Given the description of an element on the screen output the (x, y) to click on. 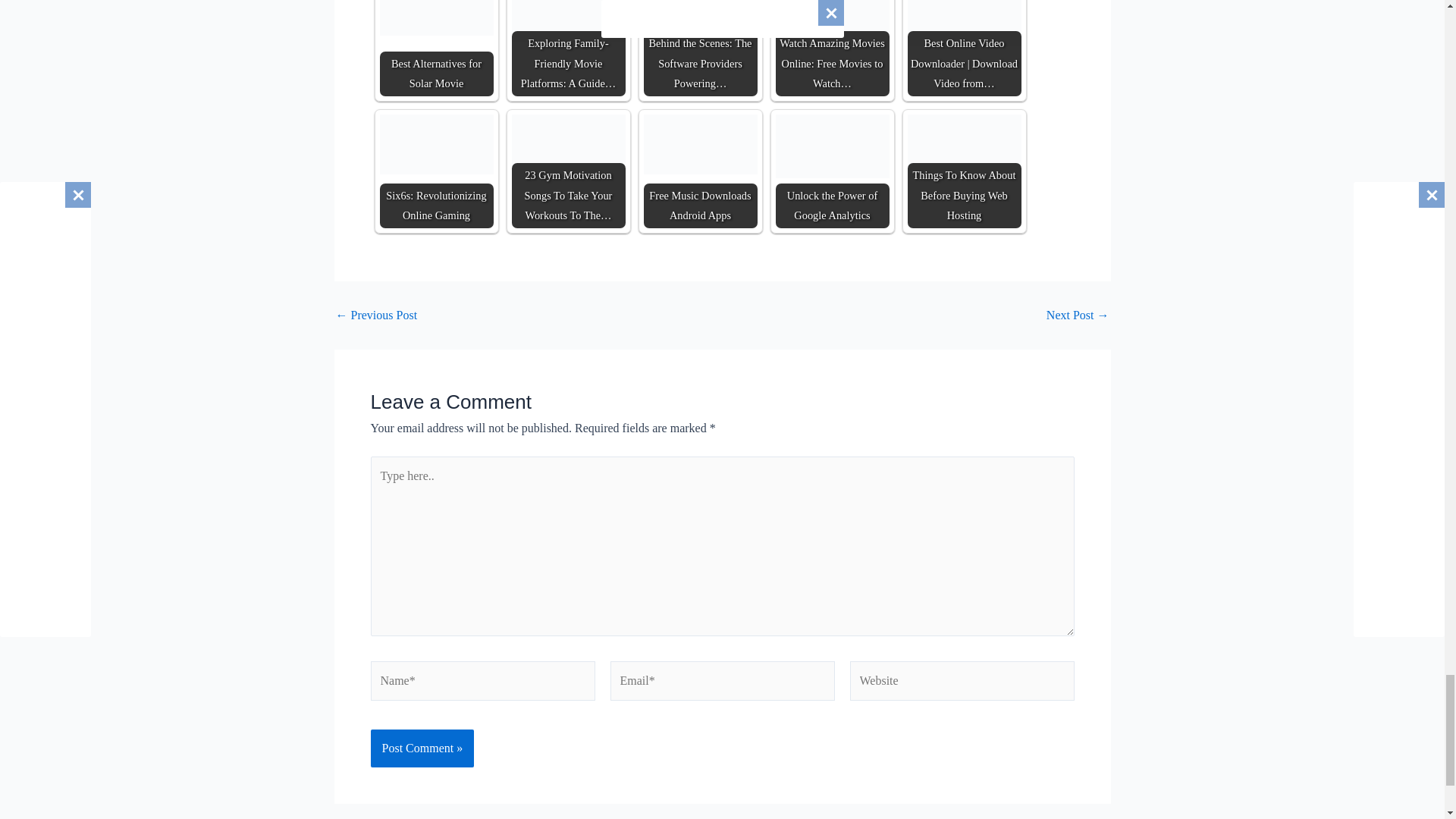
Why in car Dash Camera's are so Popular (375, 315)
Unlock the Power of Google Analytics (831, 146)
Free Music Downloads Android Apps (700, 144)
Best Alternatives for Solar Movie (435, 18)
Things To Know About Before Buying Web Hosting (963, 146)
Six6s: Revolutionizing Online Gaming (435, 144)
